Given the description of an element on the screen output the (x, y) to click on. 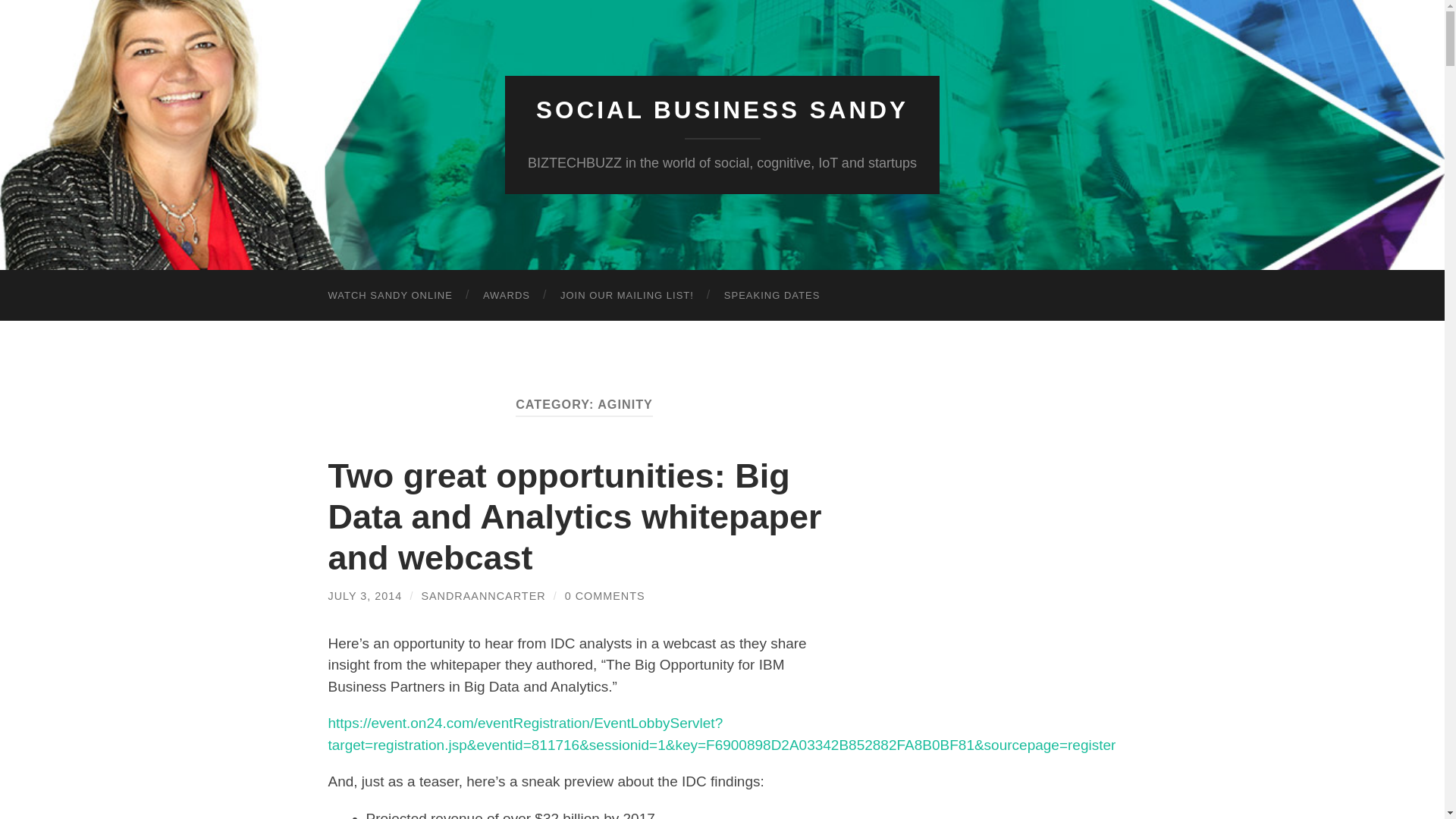
Posts by sandraanncarter (482, 595)
SPEAKING DATES (771, 295)
SOCIAL BUSINESS SANDY (721, 109)
SANDRAANNCARTER (482, 595)
0 COMMENTS (604, 595)
JULY 3, 2014 (364, 595)
WATCH SANDY ONLINE (390, 295)
AWARDS (505, 295)
JOIN OUR MAILING LIST! (626, 295)
